Given the description of an element on the screen output the (x, y) to click on. 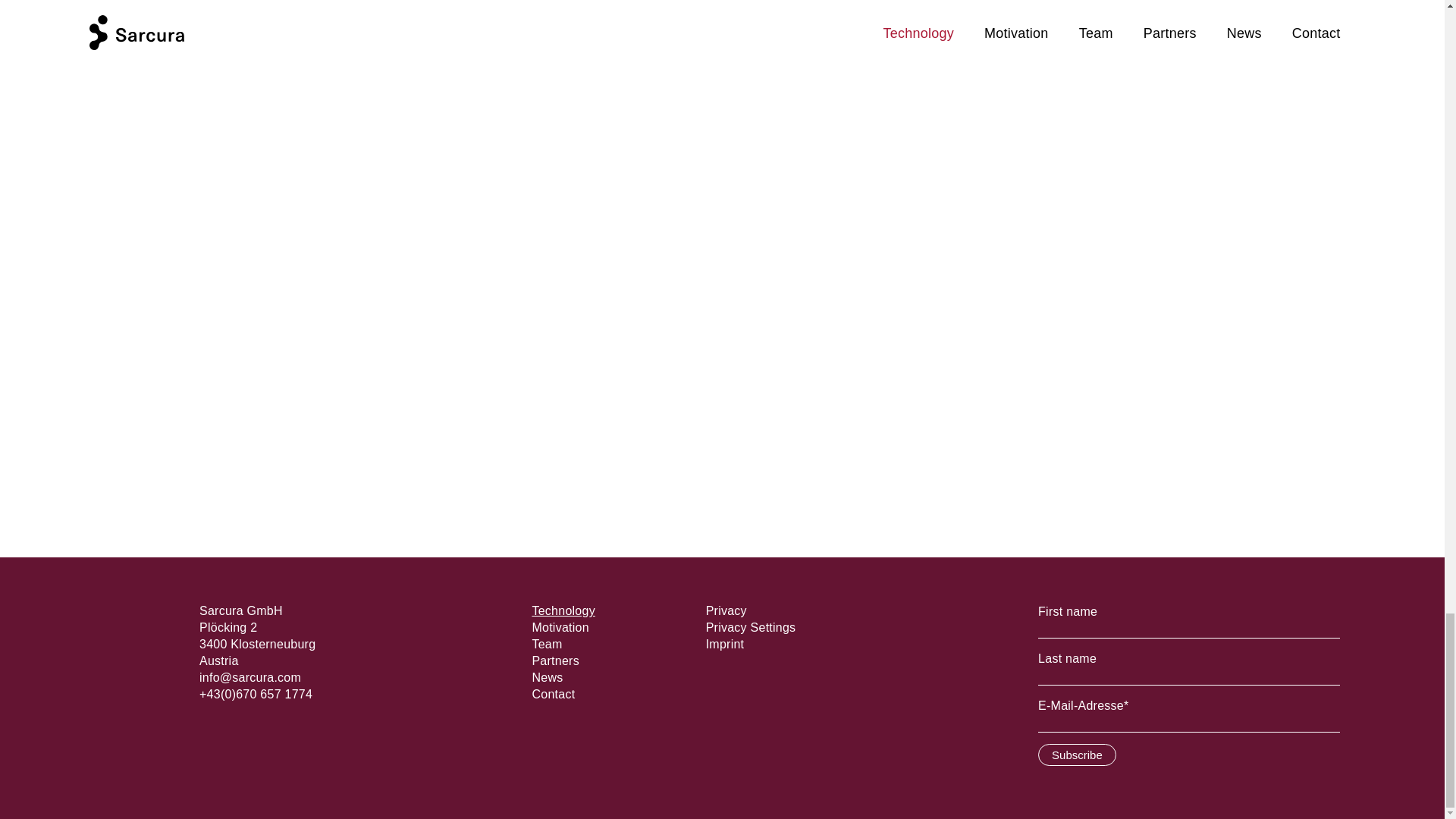
Privacy (726, 610)
Motivation (559, 626)
Contact (553, 694)
Partners (554, 660)
News (546, 676)
Technology (562, 610)
Team (546, 644)
Imprint (725, 644)
Subscribe (1077, 754)
Subscribe (1077, 754)
Privacy Settings (751, 626)
